Given the description of an element on the screen output the (x, y) to click on. 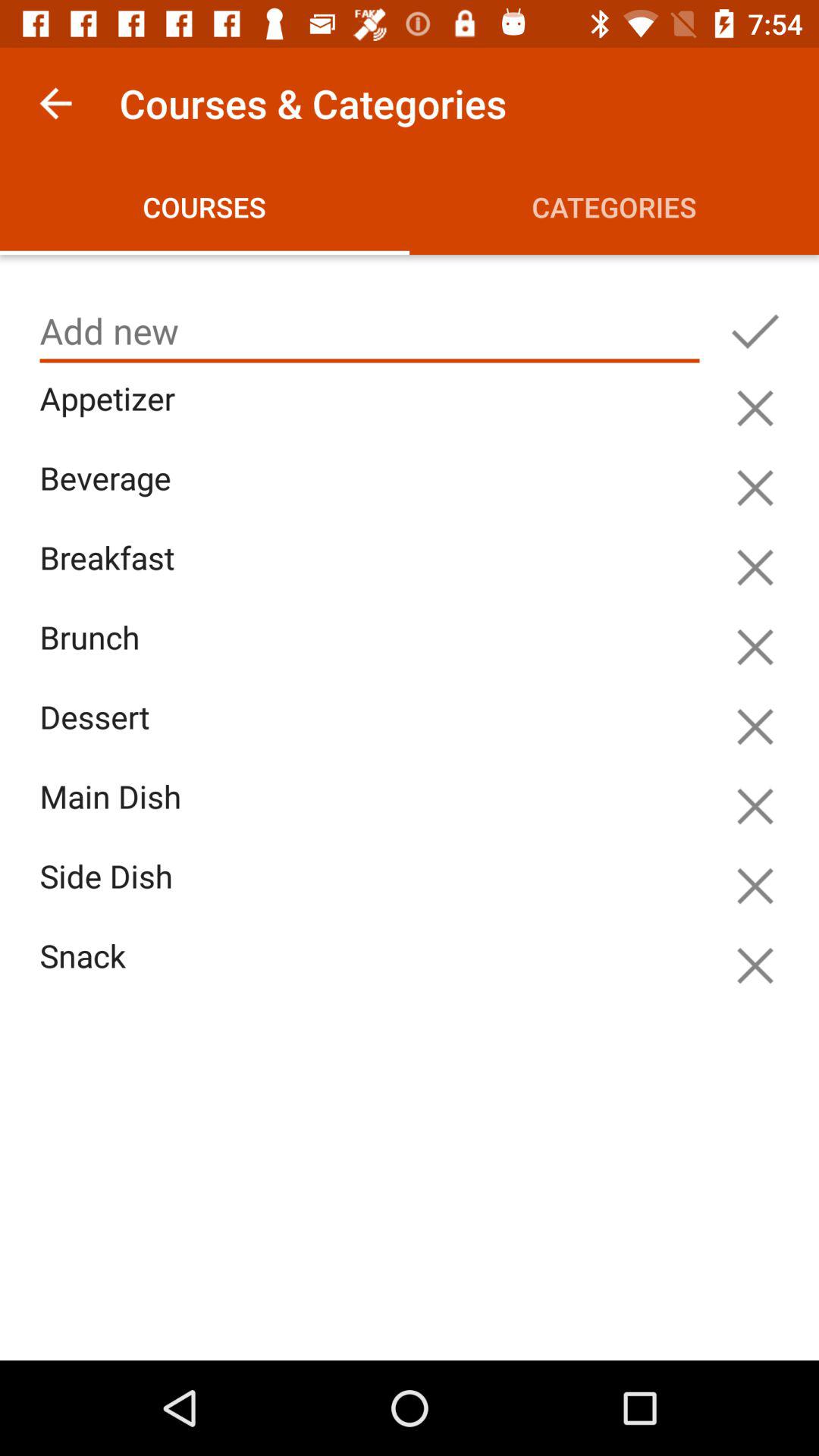
remove side dish course (755, 885)
